Given the description of an element on the screen output the (x, y) to click on. 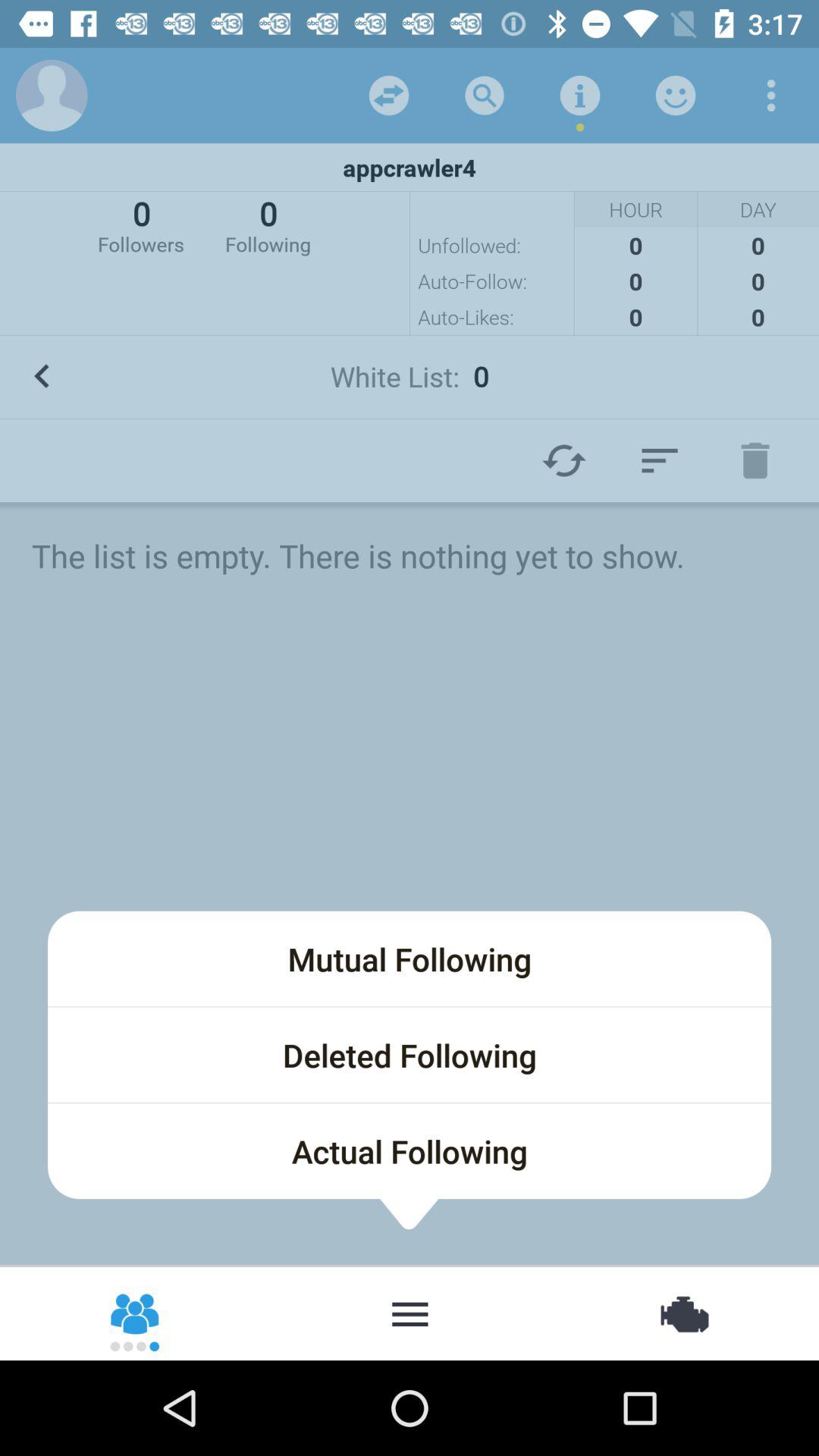
launch item at the bottom right corner (683, 1312)
